Given the description of an element on the screen output the (x, y) to click on. 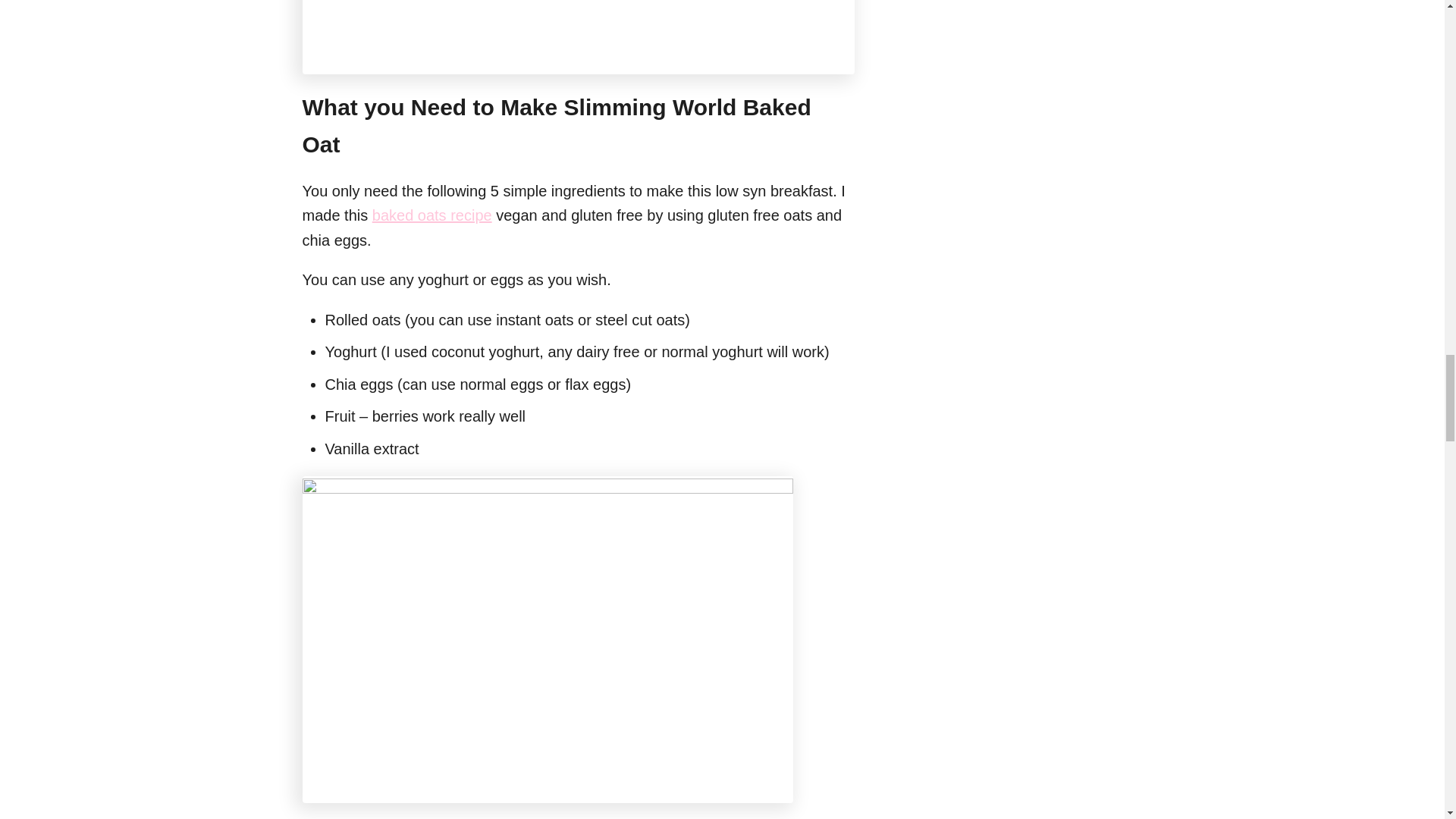
baked oats recipe (432, 215)
